Given the description of an element on the screen output the (x, y) to click on. 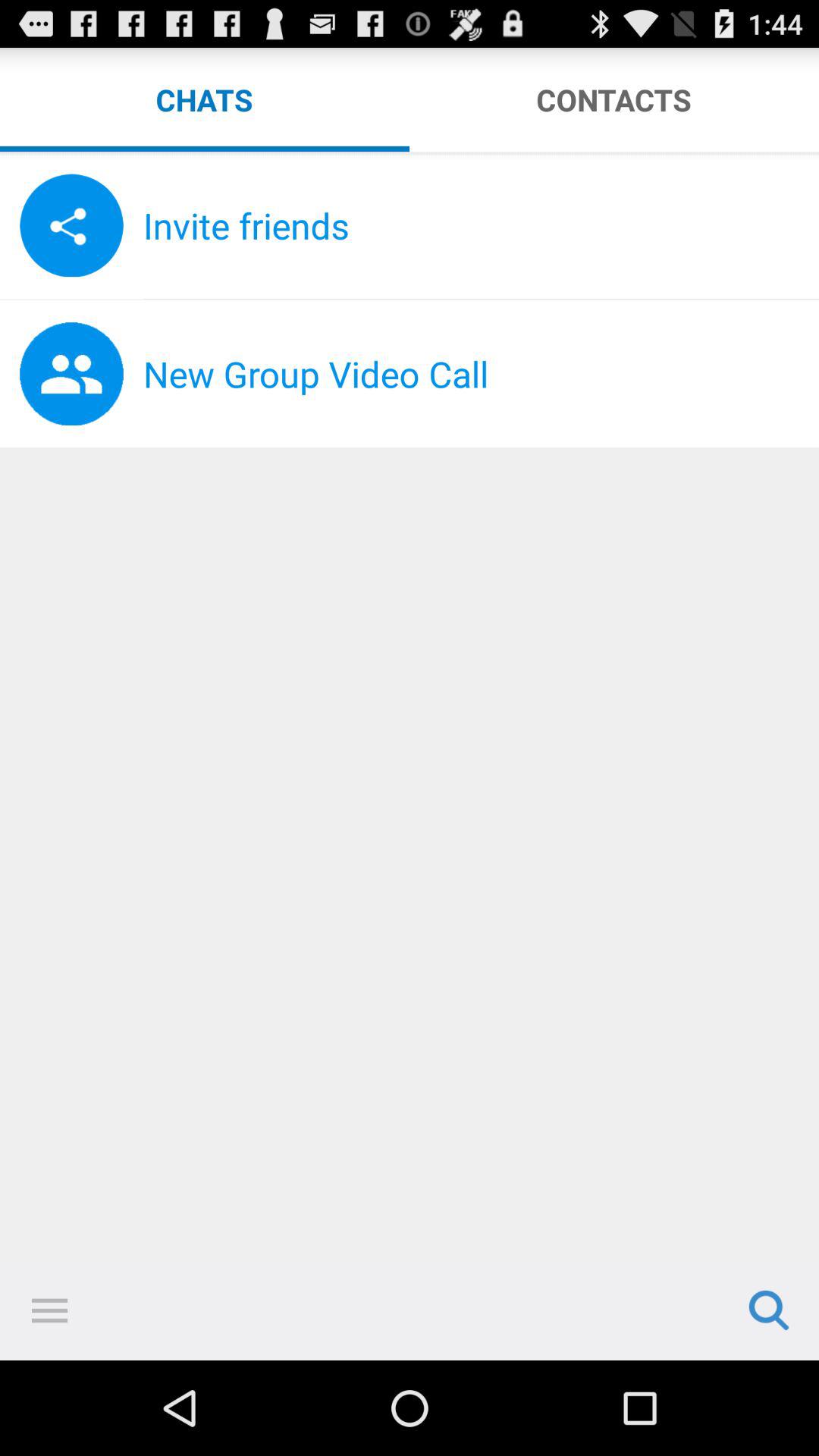
open the icon below the invite friends item (481, 298)
